Given the description of an element on the screen output the (x, y) to click on. 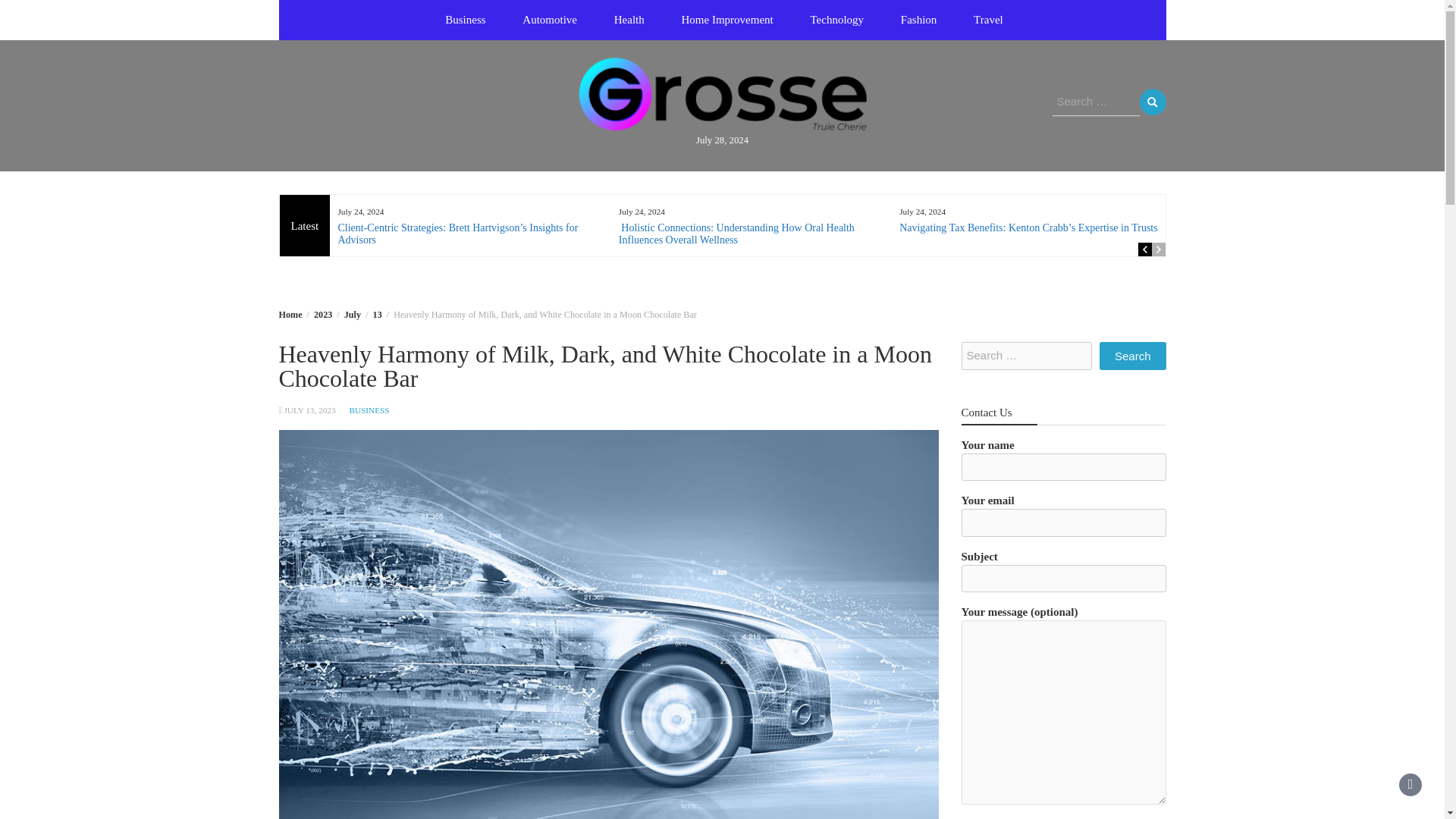
Travel (987, 20)
Search (1132, 356)
Health (628, 20)
Search (1152, 101)
2023 (322, 314)
Home Improvement (727, 20)
Search (1152, 101)
JULY 13, 2023 (308, 409)
Search (1152, 101)
BUSINESS (368, 409)
Automotive (549, 20)
Search (1132, 356)
Home (290, 314)
July (352, 314)
